Given the description of an element on the screen output the (x, y) to click on. 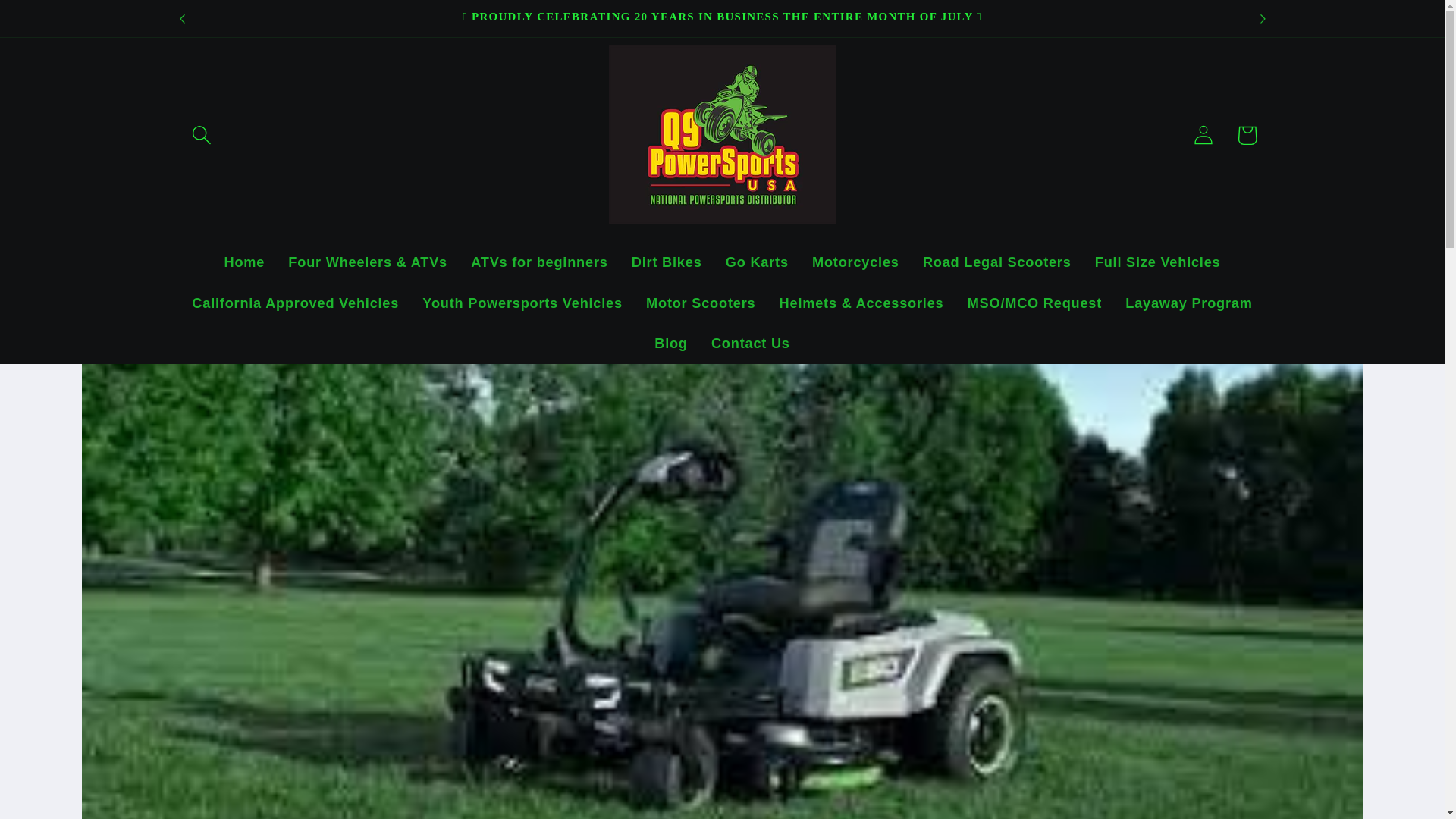
Dirt Bikes (666, 262)
Go Karts (756, 262)
Skip to content (59, 22)
Motorcycles (855, 262)
ATVs for beginners (540, 262)
Home (244, 262)
